Given the description of an element on the screen output the (x, y) to click on. 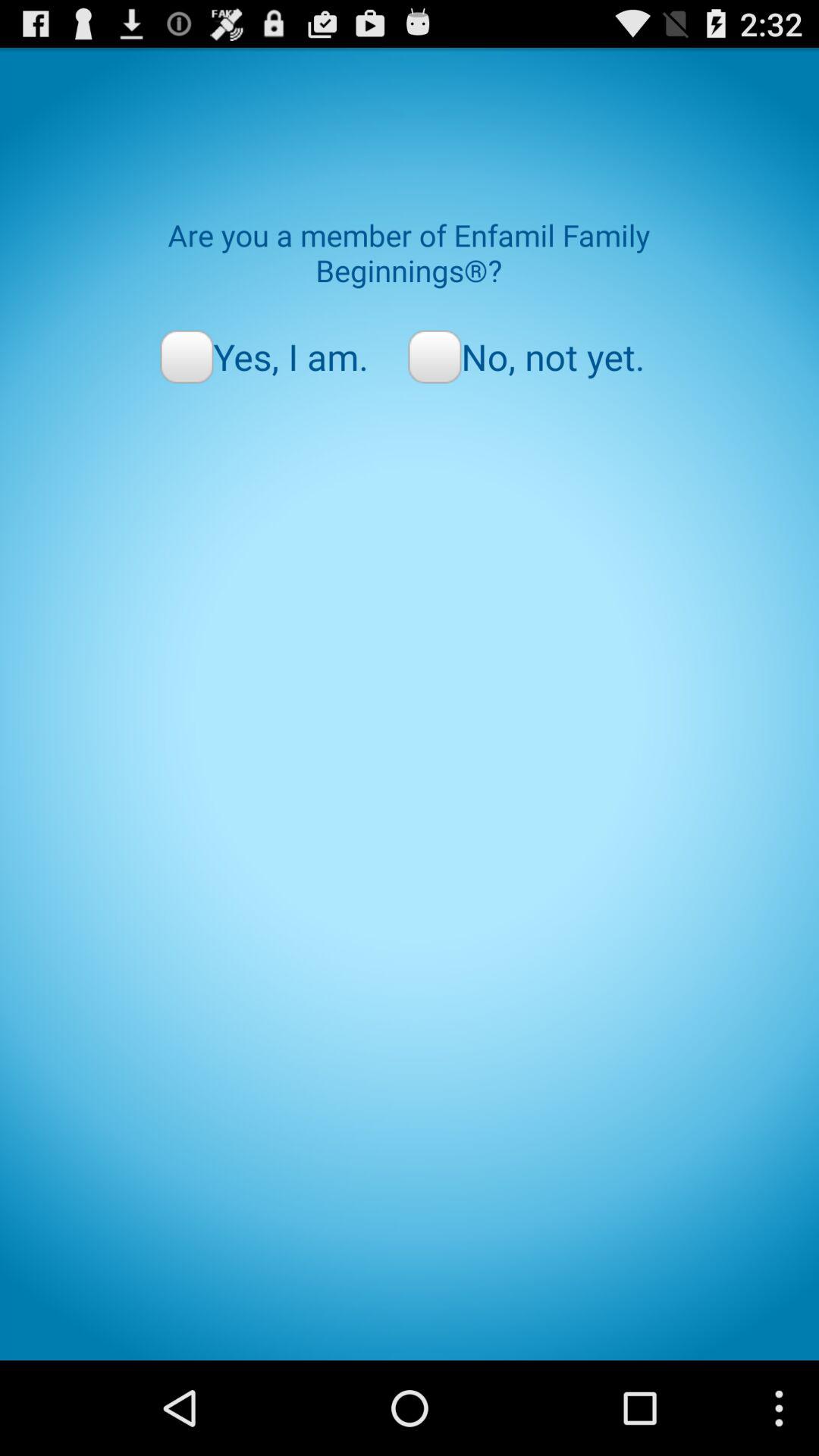
turn off the icon to the right of yes, i am. item (526, 356)
